Given the description of an element on the screen output the (x, y) to click on. 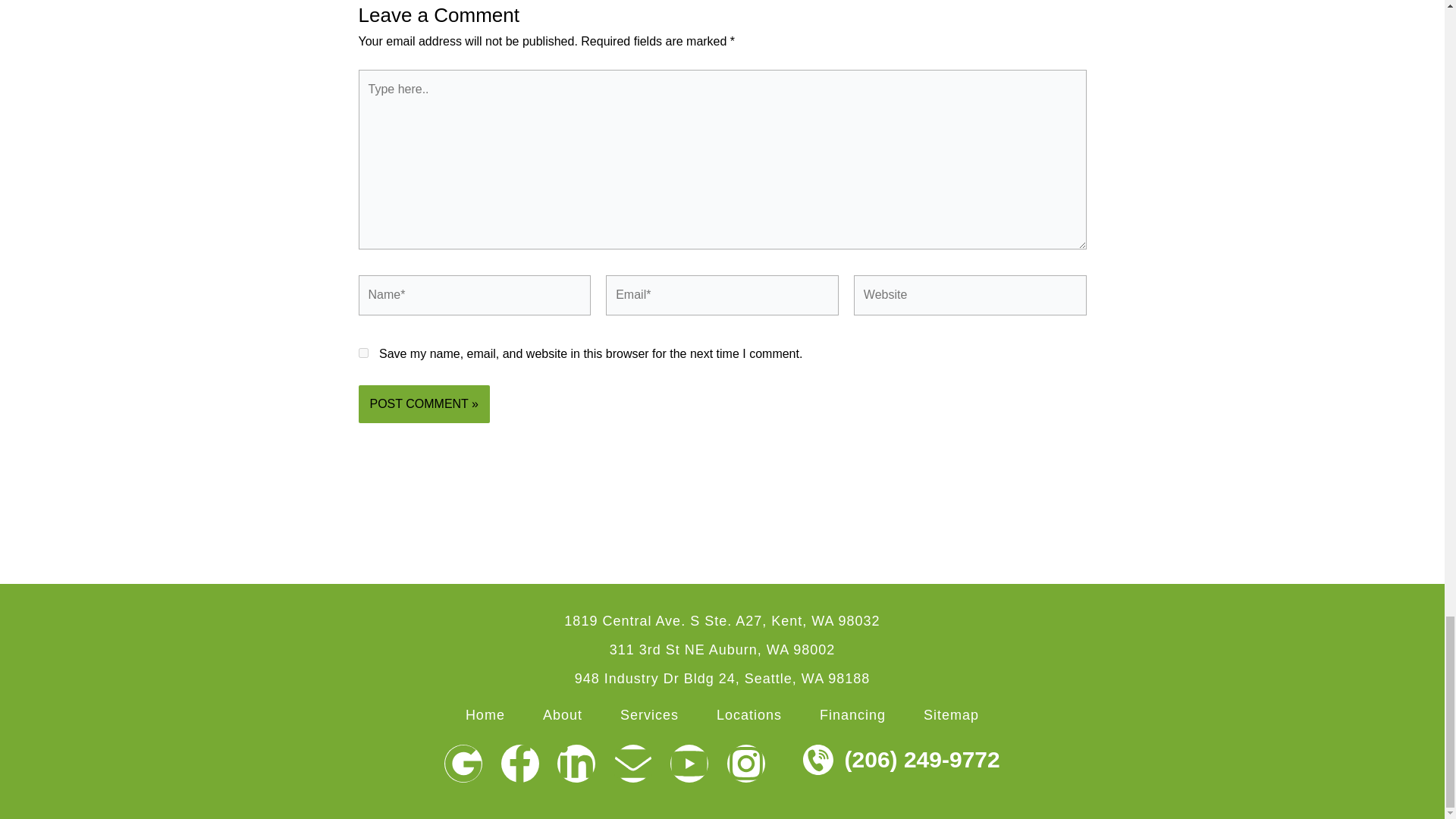
948 Industry Dr Bldg 24, Seattle, WA 98188 (722, 678)
Home (485, 715)
yes (363, 352)
1819 Central Ave. S Ste. A27, Kent, WA 98032 (721, 620)
311 3rd St NE Auburn, WA 98002 (722, 649)
